Given the description of an element on the screen output the (x, y) to click on. 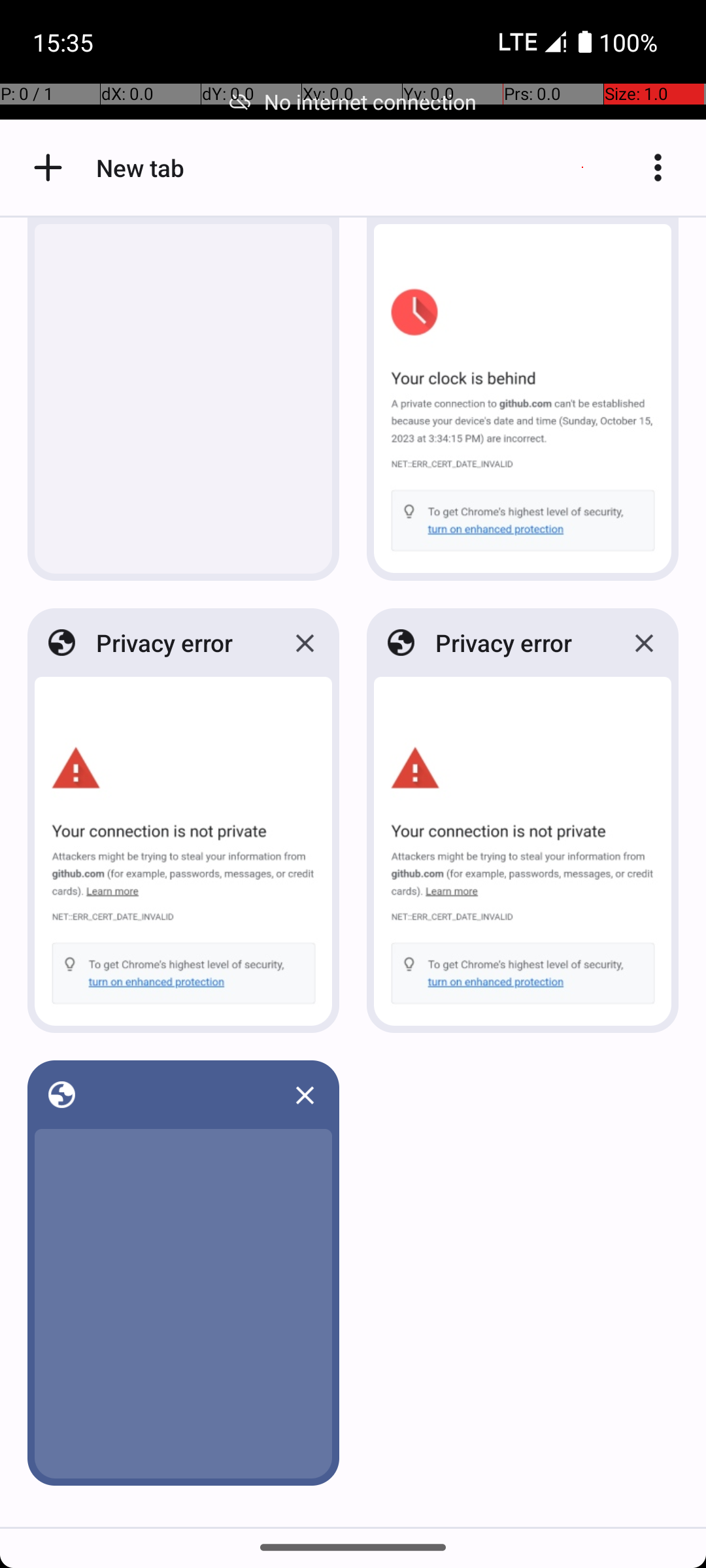
www.google.com Element type: android.widget.TextView (179, 219)
Close www.google.com tab Element type: android.widget.ImageView (304, 223)
Clock error Element type: android.widget.TextView (518, 219)
Close Clock error tab Element type: android.widget.ImageView (643, 223)
Close Privacy error tab Element type: android.widget.ImageView (304, 642)
, tab Element type: android.widget.TextView (179, 1094)
Close  tab Element type: android.widget.ImageView (304, 1094)
New tab Element type: android.widget.ImageView (48, 167)
